Given the description of an element on the screen output the (x, y) to click on. 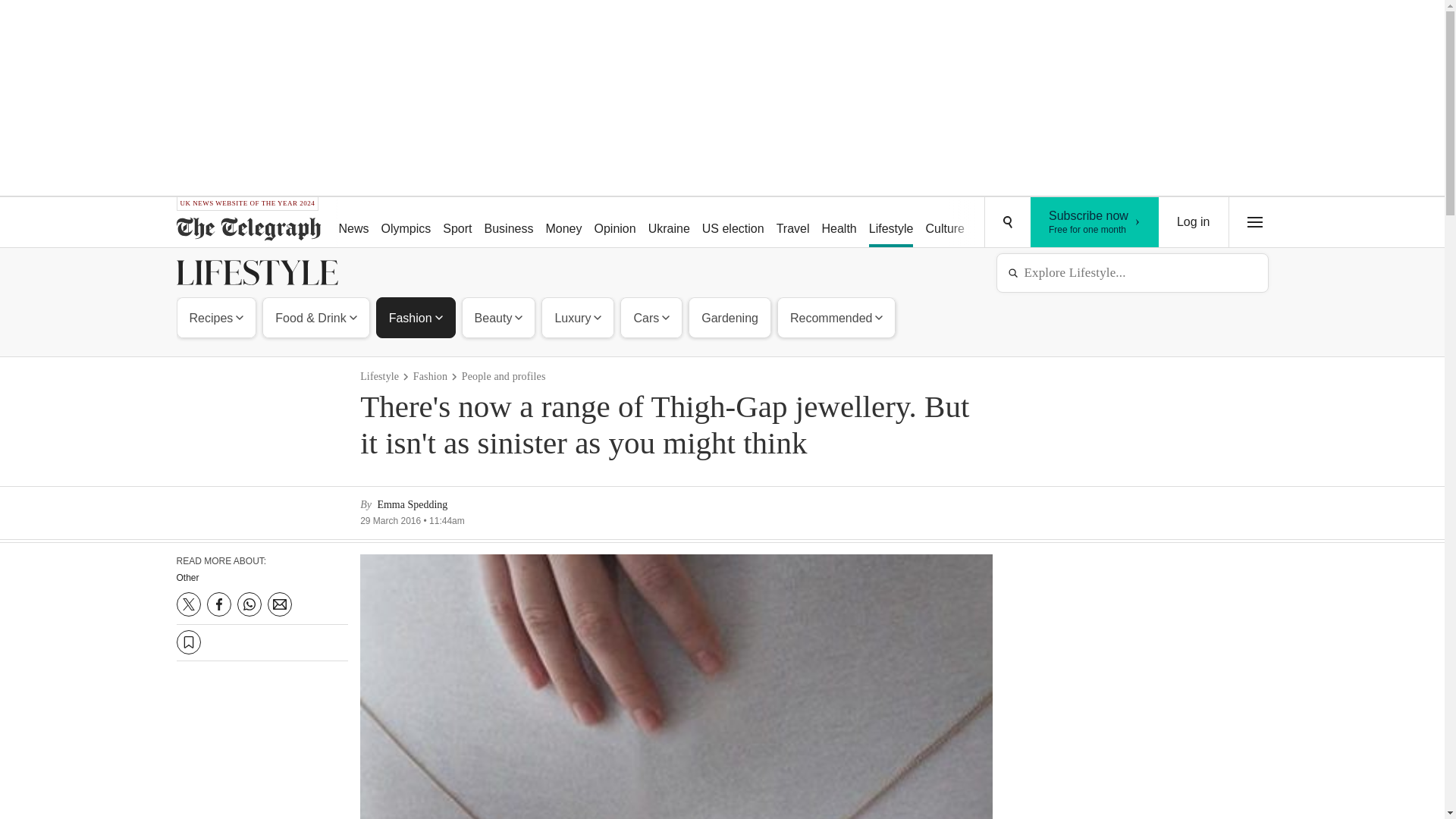
Lifestyle (891, 223)
Olympics (406, 223)
Culture (944, 223)
US election (732, 223)
Puzzles (998, 223)
Opinion (615, 223)
Travel (792, 223)
Health (838, 223)
Business (509, 223)
Podcasts (1056, 223)
Log in (1193, 222)
Money (563, 223)
Ukraine (668, 223)
Recipes (216, 317)
